Given the description of an element on the screen output the (x, y) to click on. 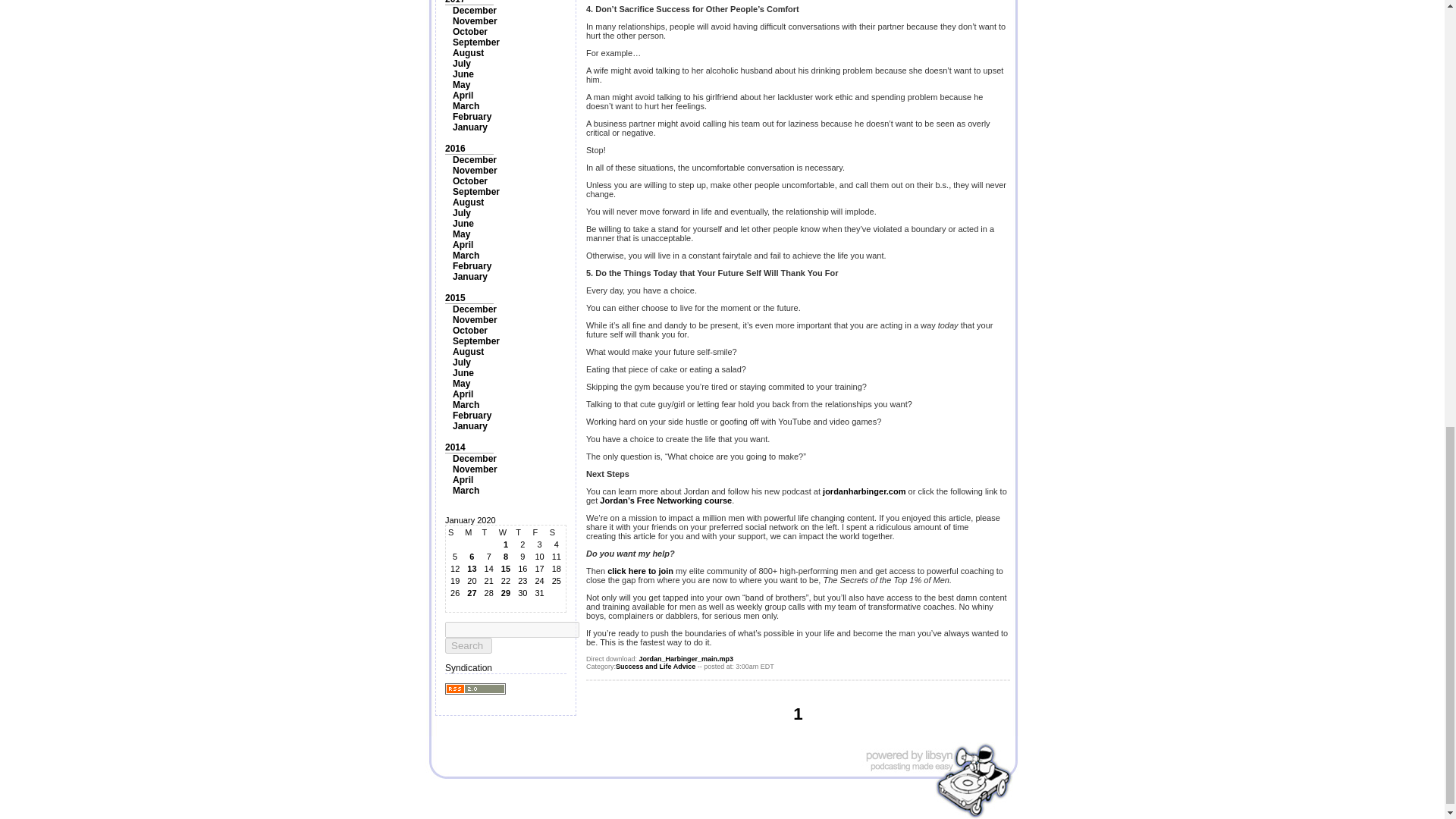
Tuesday (488, 532)
Thursday (522, 532)
Wednesday (505, 532)
Monday (471, 532)
Sunday (454, 532)
Friday (539, 532)
Search  (468, 645)
Saturday (556, 532)
